Given the description of an element on the screen output the (x, y) to click on. 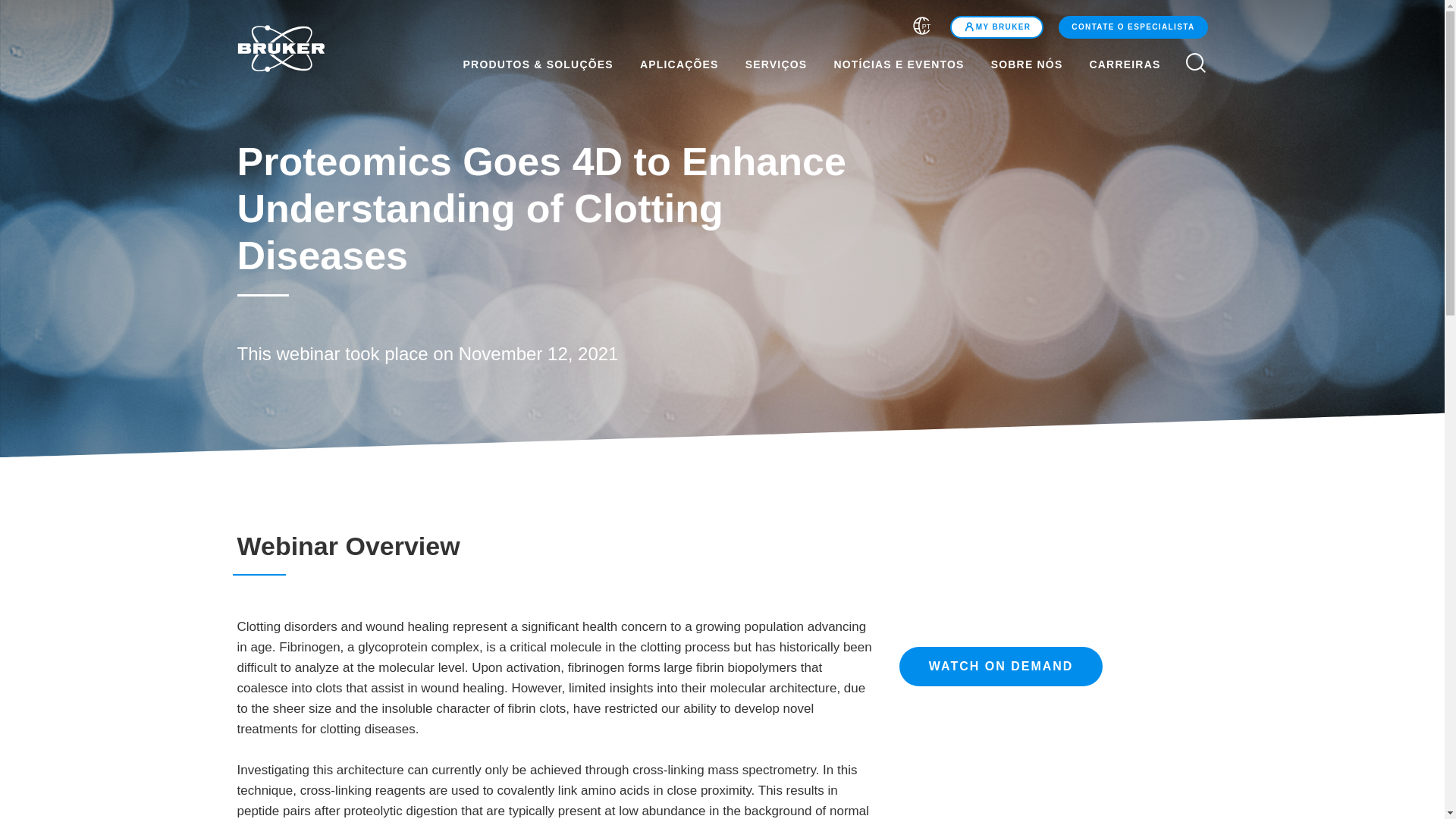
CONTATE O ESPECIALISTA (1130, 27)
WATCH ON DEMAND (1001, 666)
CARREIRAS (1133, 64)
CONTATE O ESPECIALISTA (1132, 26)
MY BRUKER (996, 26)
PT (921, 27)
